Given the description of an element on the screen output the (x, y) to click on. 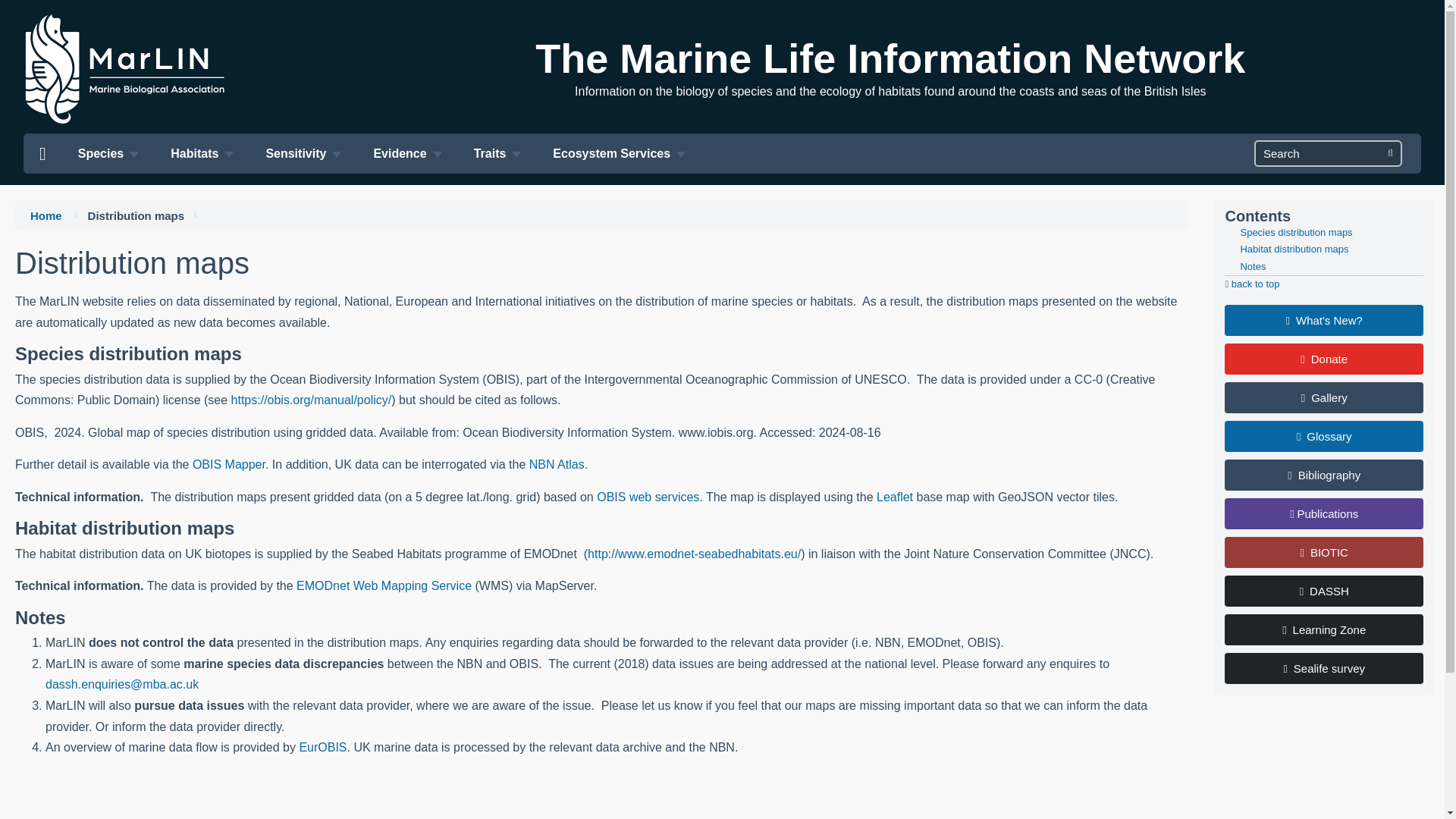
Habitats (201, 153)
Sensitivity (302, 153)
Species (108, 153)
